Given the description of an element on the screen output the (x, y) to click on. 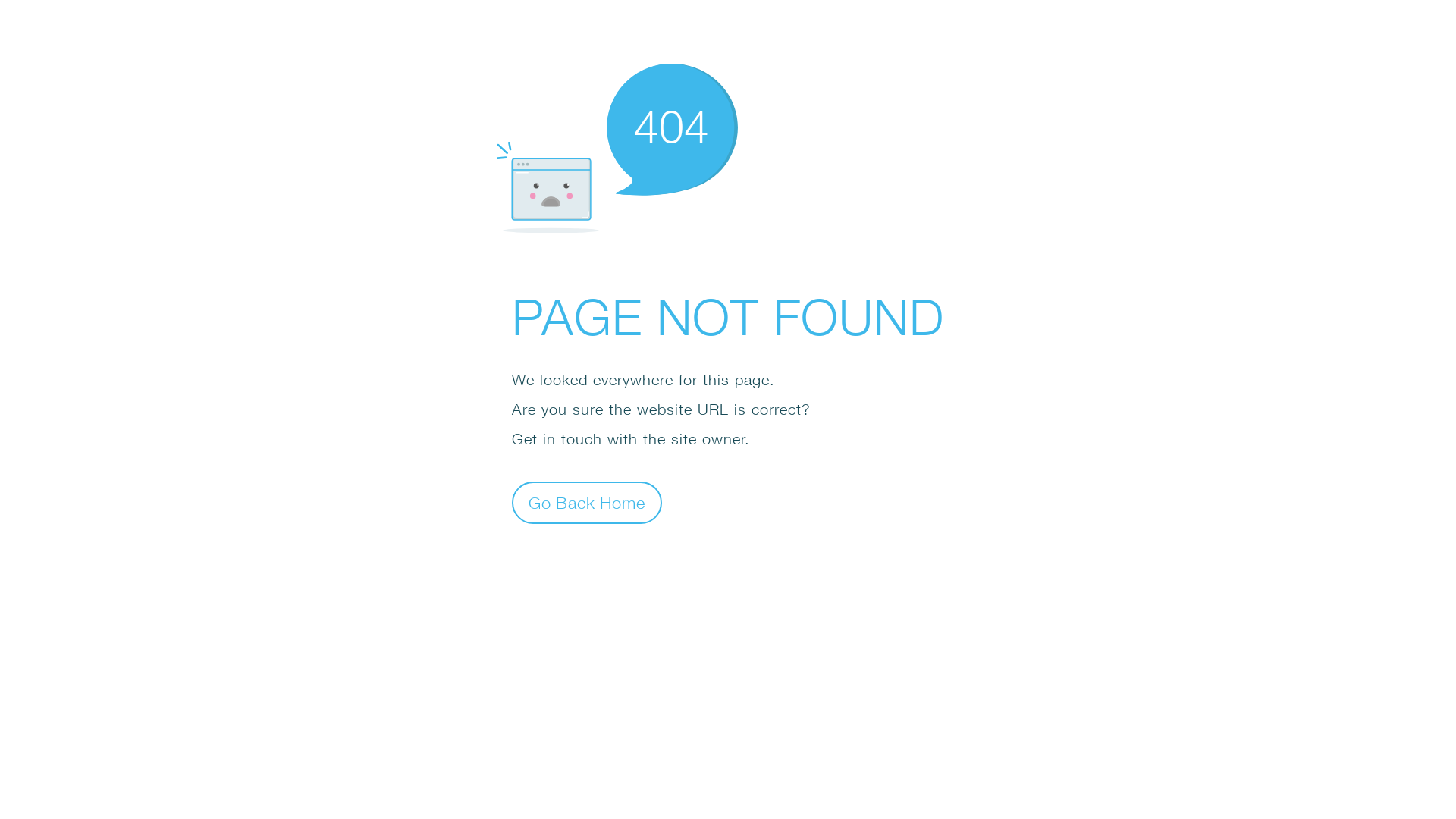
Go Back Home Element type: text (586, 502)
